Given the description of an element on the screen output the (x, y) to click on. 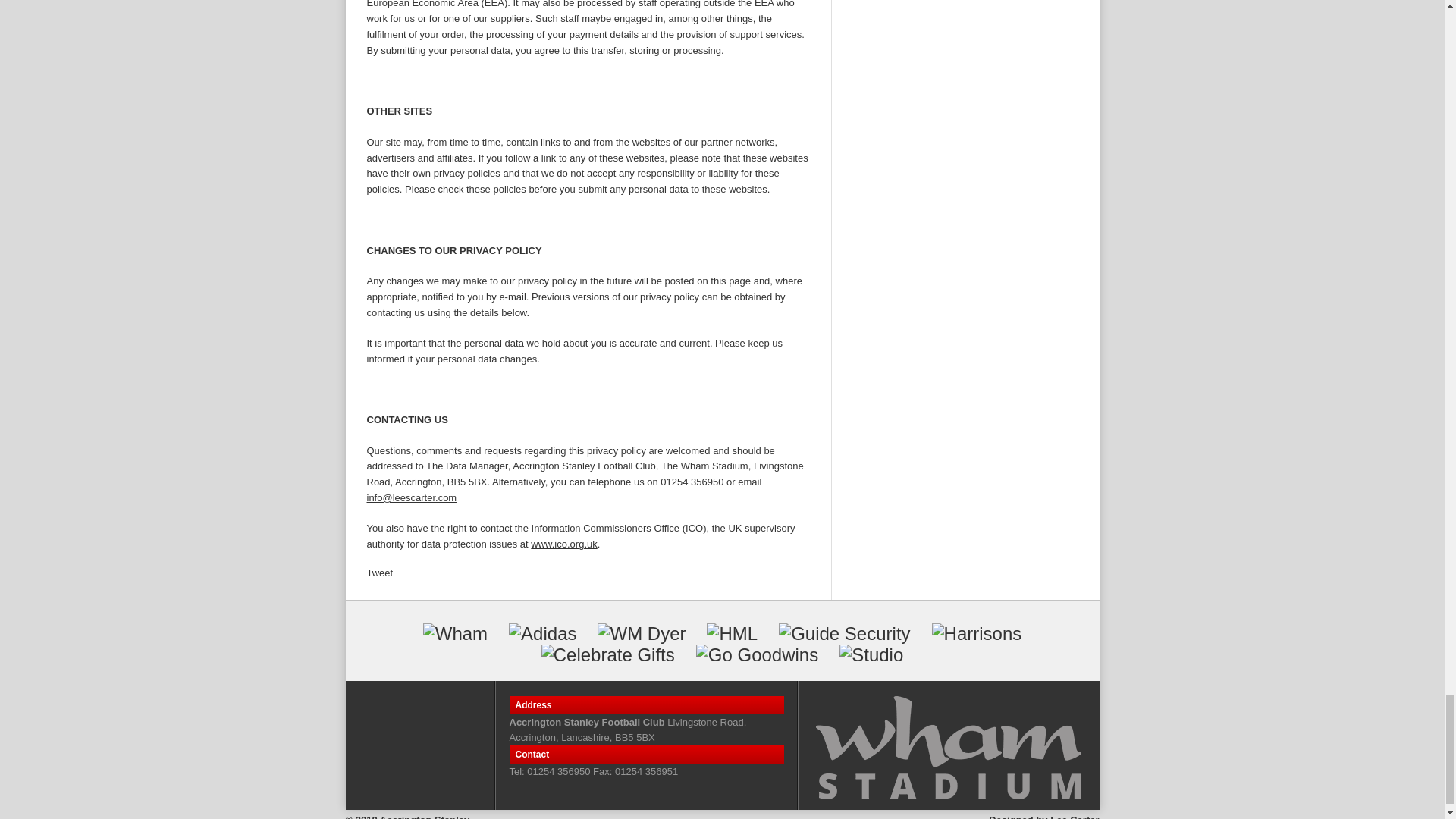
HML (731, 633)
Adidas (542, 633)
WM Dyer (640, 633)
Celebrate Gifts (608, 654)
Guide Security (844, 633)
Harrisons (976, 633)
Studio (871, 654)
Wham (455, 633)
Go Goodwins (756, 654)
